Given the description of an element on the screen output the (x, y) to click on. 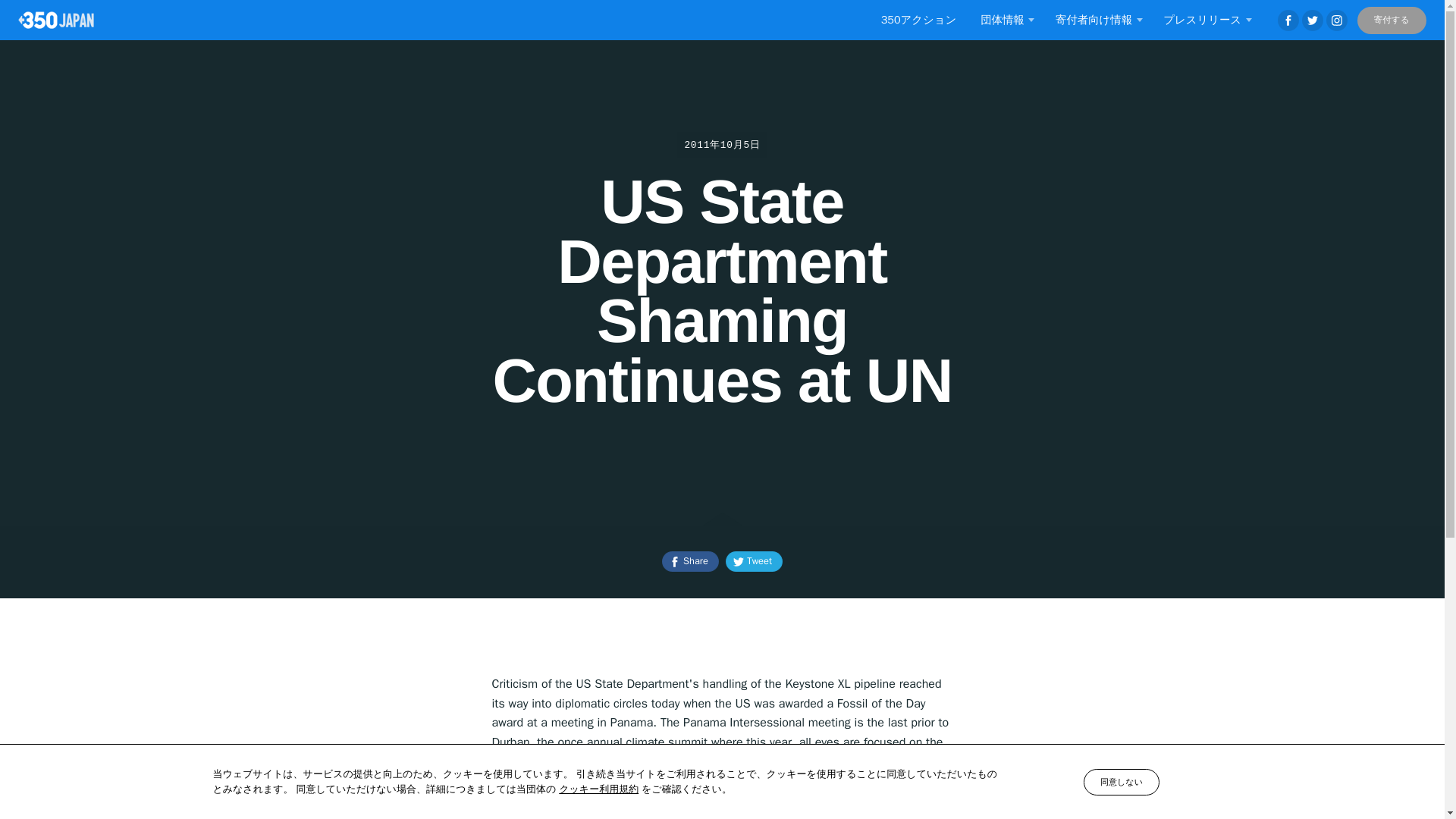
Facebook (1288, 20)
Share (689, 561)
Instagram (1337, 20)
Tweet (753, 561)
Twitter (1312, 20)
